Given the description of an element on the screen output the (x, y) to click on. 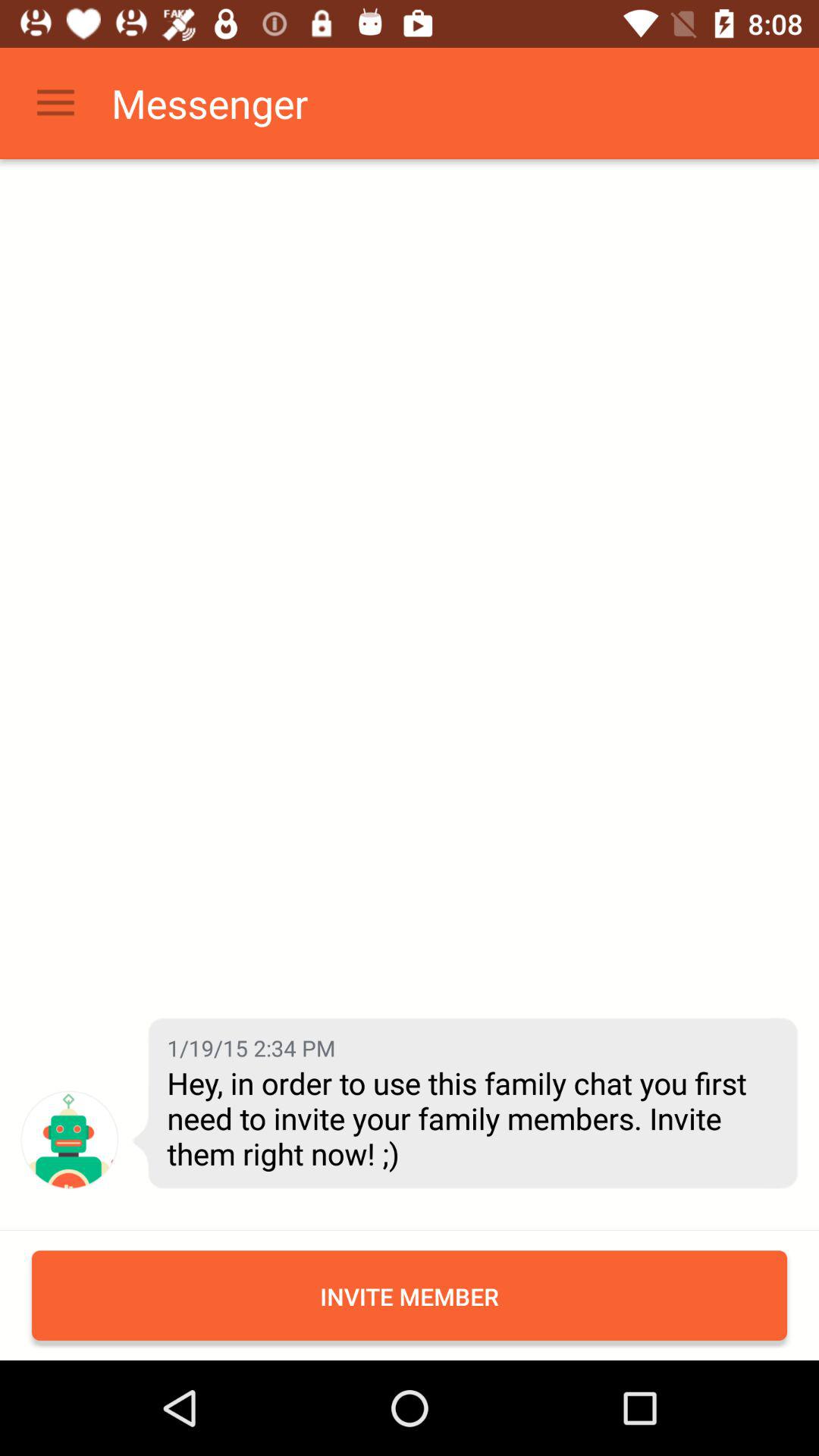
tap item below the messenger icon (251, 1047)
